Given the description of an element on the screen output the (x, y) to click on. 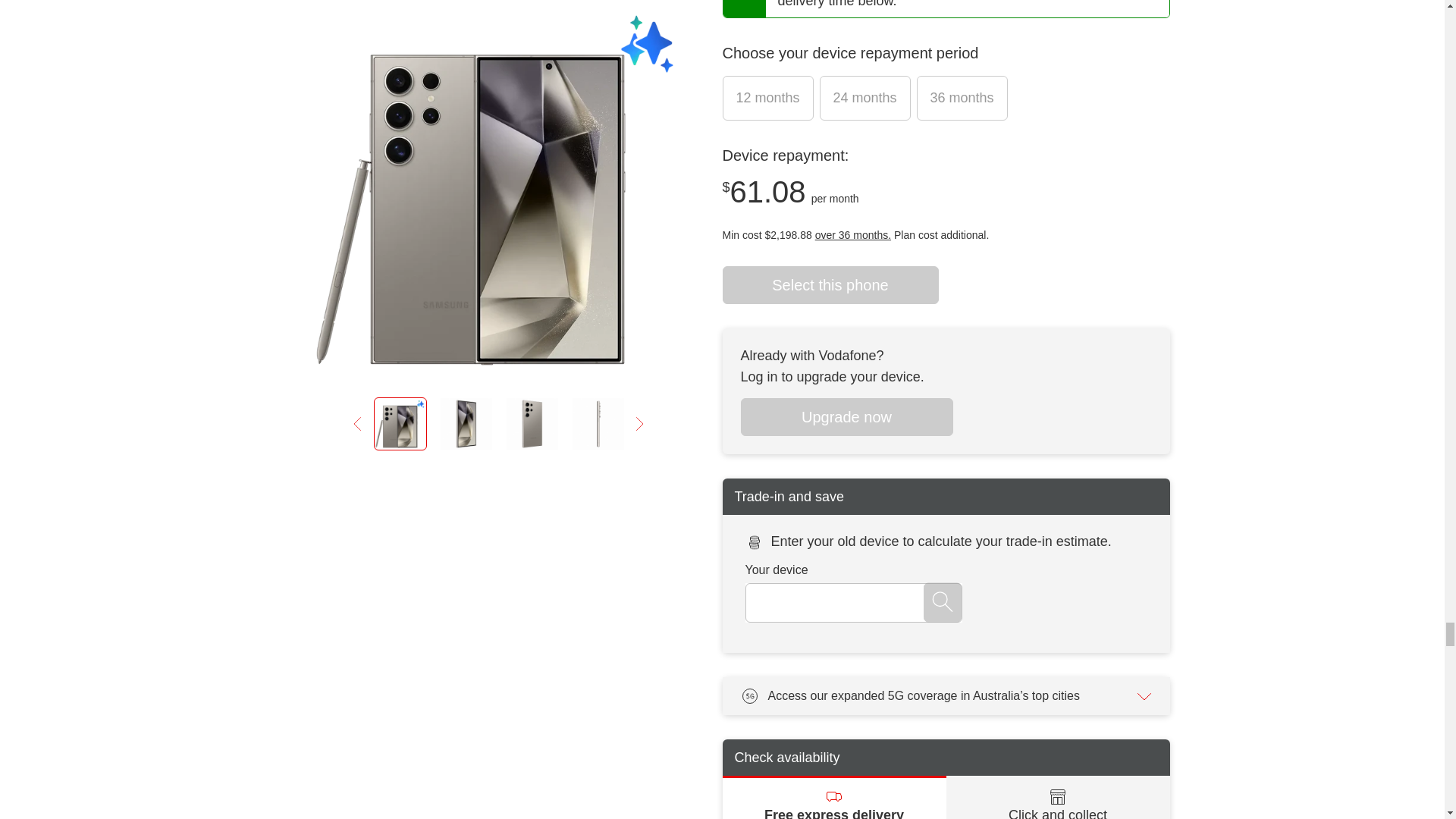
Click and collect (1058, 797)
Upgrade now (845, 416)
Click and collect (1058, 797)
Next image (637, 131)
Previous image (357, 131)
Select this phone (829, 284)
Free express delivery (833, 797)
 Free express delivery (833, 797)
